Given the description of an element on the screen output the (x, y) to click on. 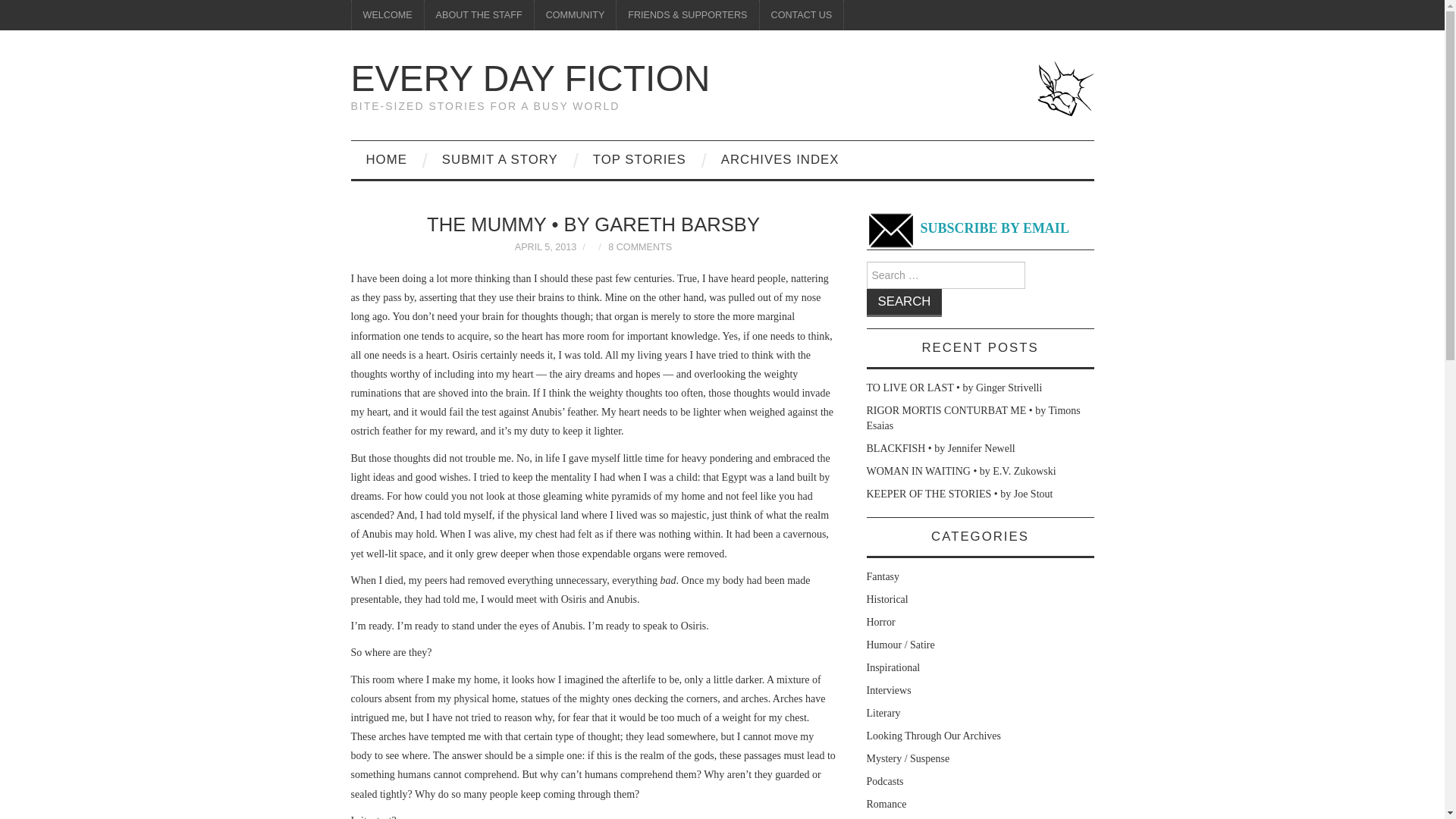
Inspirational (893, 667)
  SUBSCRIBE BY EMAIL (967, 229)
Horror (880, 622)
Interviews (888, 690)
Search (904, 302)
EVERY DAY FICTION (530, 78)
WELCOME (387, 15)
Historical (886, 599)
Search (904, 302)
Search for: (945, 275)
